Given the description of an element on the screen output the (x, y) to click on. 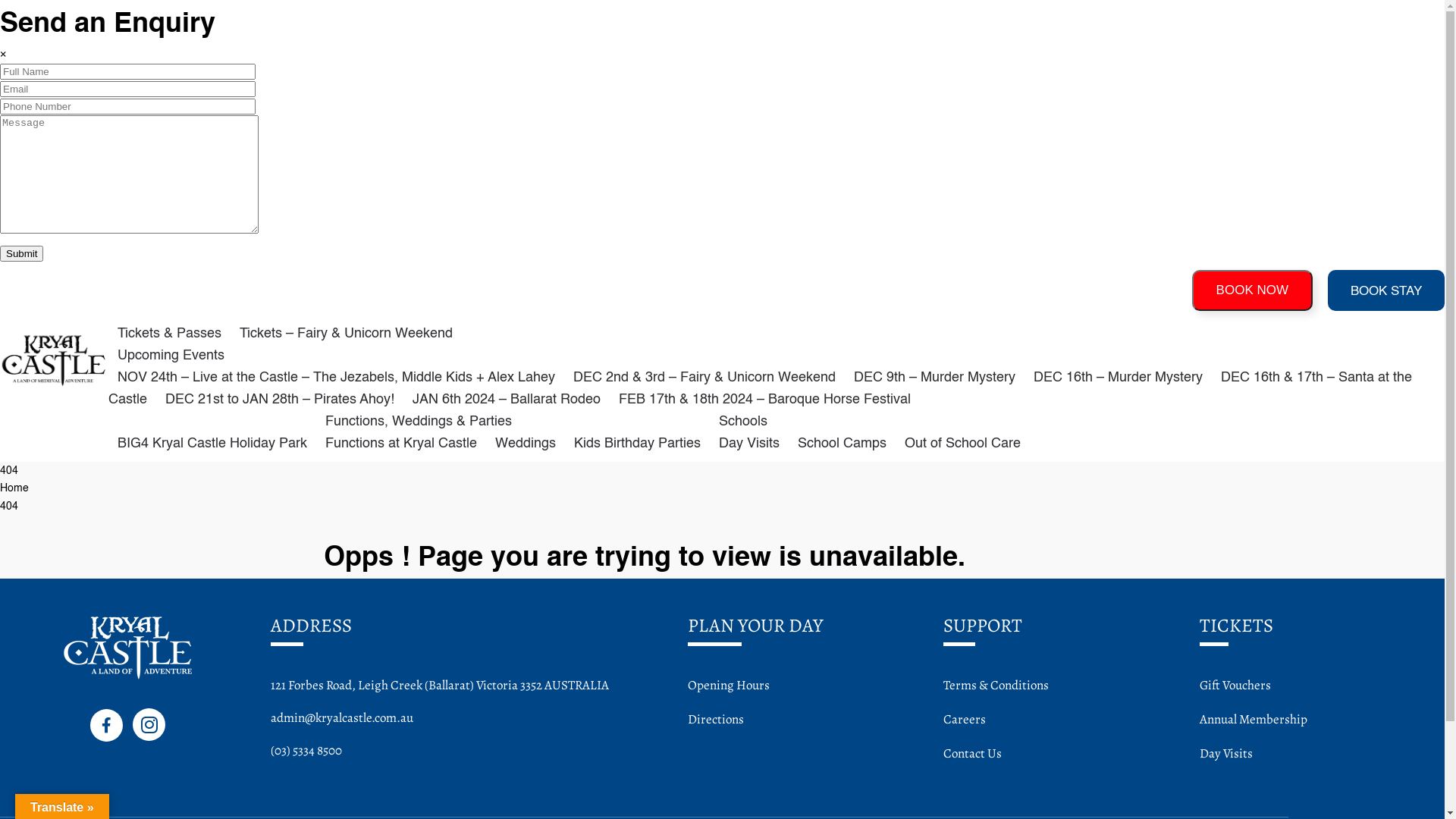
Kids Birthday Parties Element type: text (636, 443)
(03) 5334 8500 Element type: text (306, 750)
Upcoming Events Element type: text (170, 355)
BOOK NOW Element type: text (1252, 289)
Tickets & Passes Element type: text (169, 333)
Day Visits Element type: text (1225, 753)
Schools Element type: text (742, 421)
Directions Element type: text (715, 719)
admin@kryalcastle.com.au Element type: text (341, 717)
School Camps Element type: text (841, 443)
Careers Element type: text (964, 719)
Home Element type: text (14, 487)
Submit Element type: text (21, 253)
Contact Us Element type: text (972, 753)
Opening Hours Element type: text (728, 684)
Functions, Weddings & Parties Element type: text (418, 421)
BIG4 Kryal Castle Holiday Park Element type: text (212, 443)
Terms & Conditions Element type: text (995, 684)
Gift Vouchers Element type: text (1234, 684)
Annual Membership Element type: text (1253, 719)
Day Visits Element type: text (748, 443)
Functions at Kryal Castle Element type: text (401, 443)
Out of School Care Element type: text (962, 443)
BOOK STAY Element type: text (1385, 289)
Weddings Element type: text (525, 443)
